Given the description of an element on the screen output the (x, y) to click on. 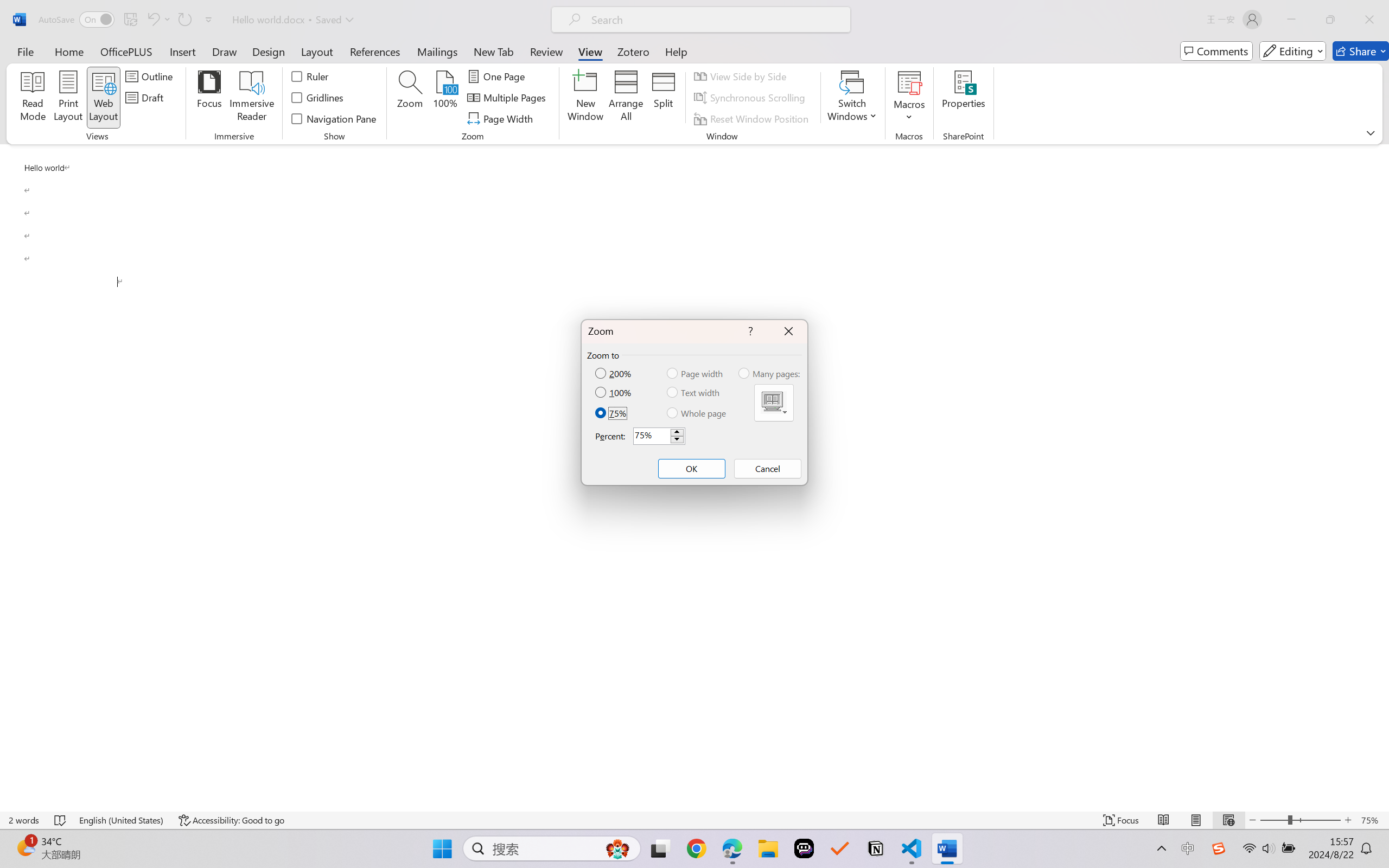
Share (1360, 51)
Undo Paragraph Formatting (158, 19)
Switch Windows (852, 97)
Whole page (696, 412)
File Tab (24, 51)
View Macros (909, 81)
Editing (1292, 50)
Language English (United States) (121, 819)
Reset Window Position (752, 118)
